Given the description of an element on the screen output the (x, y) to click on. 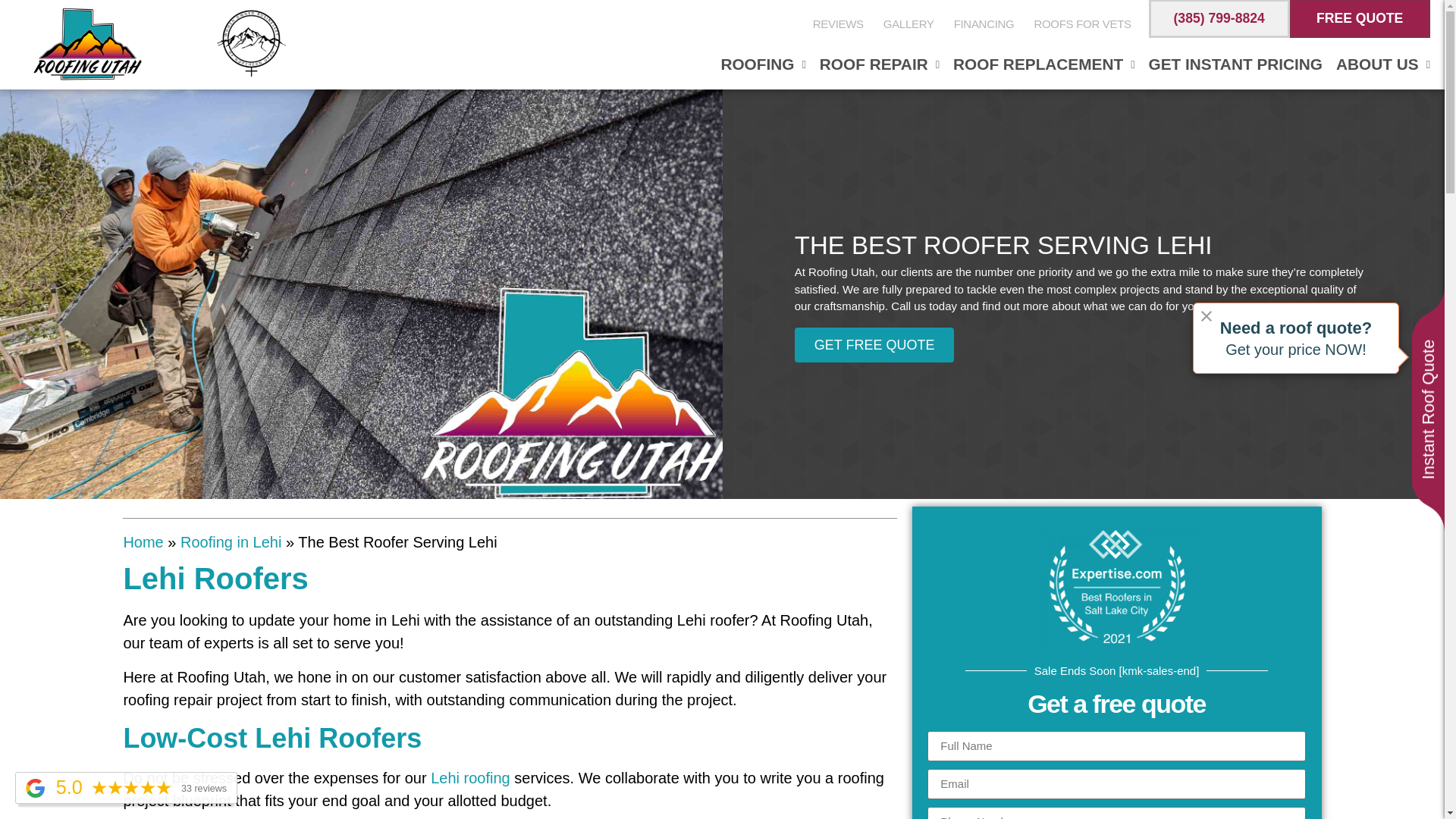
Powered by Google (35, 787)
